Given the description of an element on the screen output the (x, y) to click on. 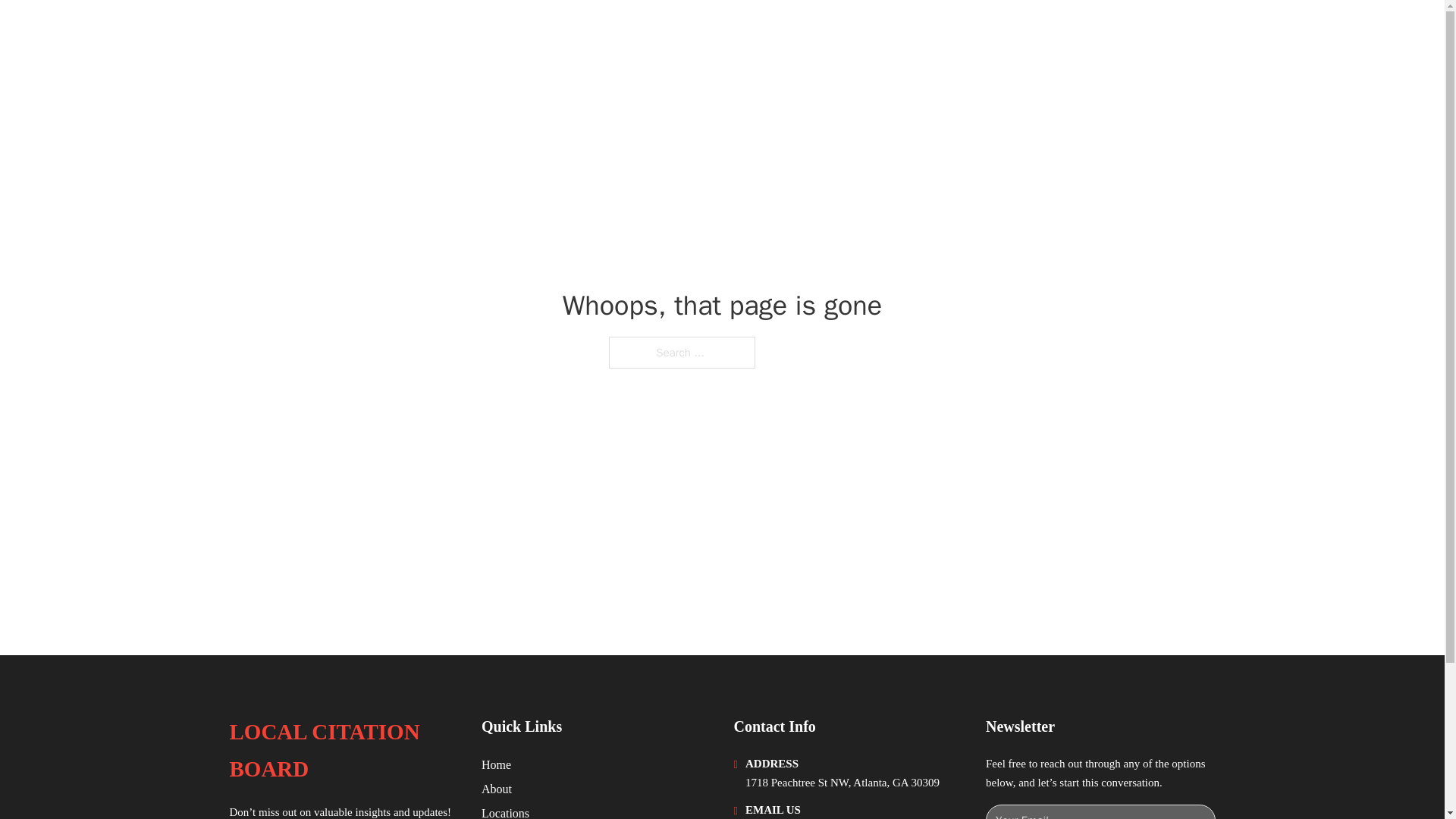
LOCAL CITATION BOARD (380, 31)
Home (496, 764)
LOCAL CITATION BOARD (343, 750)
Locations (505, 811)
HOME (1025, 31)
About (496, 788)
LOCATIONS (1098, 31)
